Given the description of an element on the screen output the (x, y) to click on. 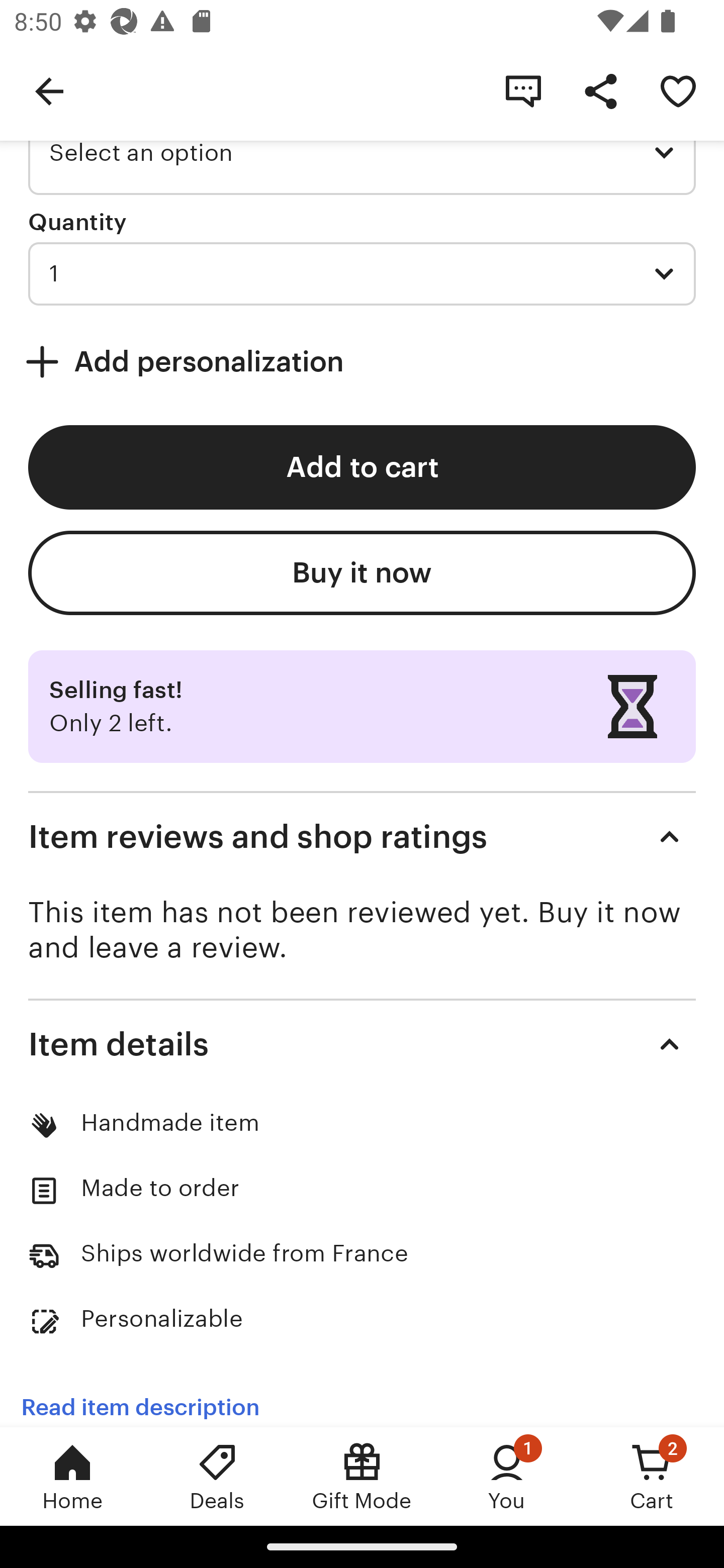
Navigate up (49, 90)
Contact shop (523, 90)
Share (600, 90)
Select an option (361, 152)
Quantity (77, 221)
1 (361, 273)
Add personalization Add personalization Required (362, 361)
Add to cart (361, 466)
Buy it now (361, 571)
Item reviews and shop ratings (362, 836)
Item details (362, 1043)
Read item description (140, 1395)
Deals (216, 1475)
Gift Mode (361, 1475)
You, 1 new notification You (506, 1475)
Cart, 2 new notifications Cart (651, 1475)
